Given the description of an element on the screen output the (x, y) to click on. 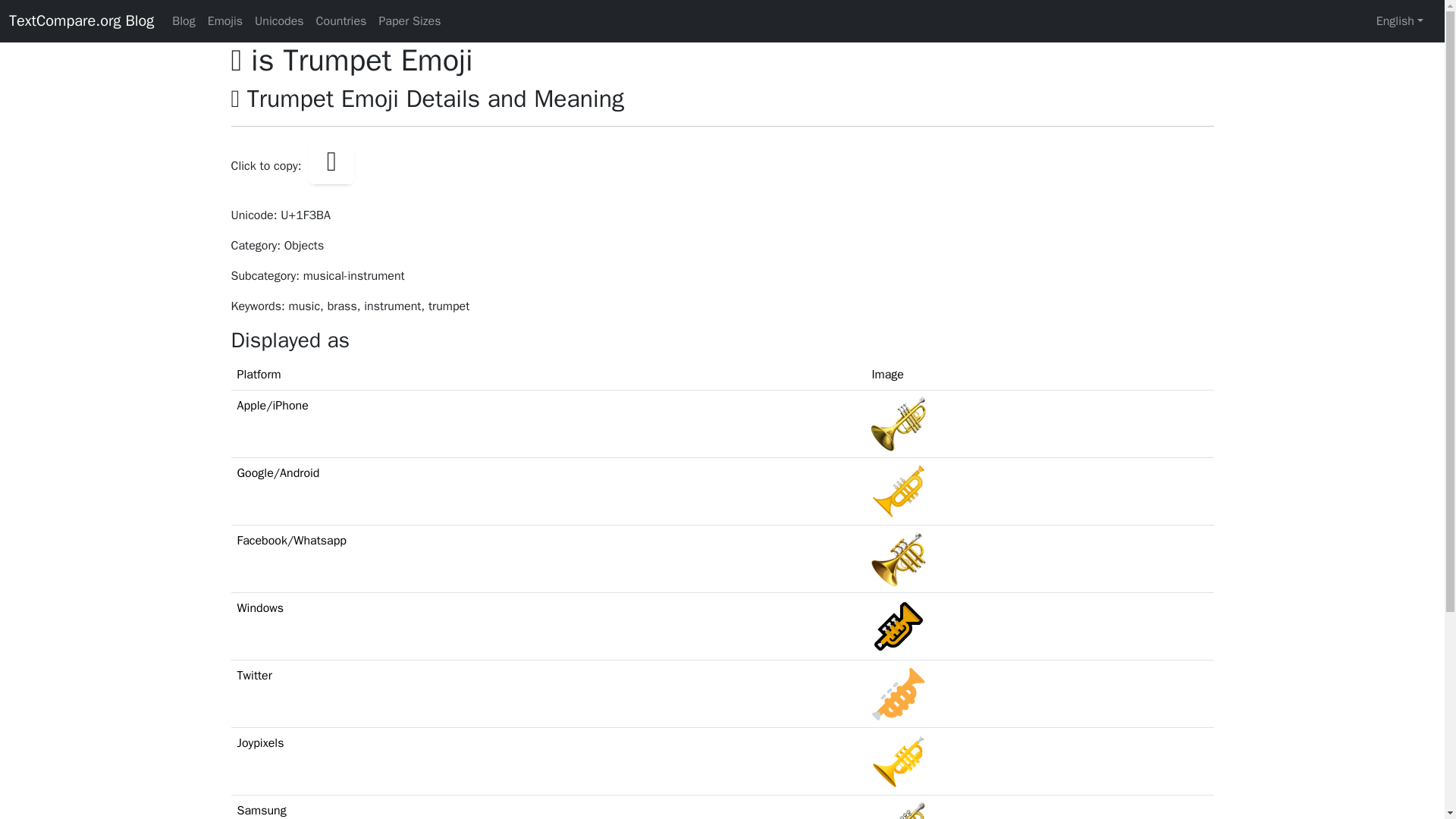
Emojis (225, 20)
TextCompare.org Blog (81, 20)
clicktocopy (330, 161)
Countries (341, 20)
Unicodes (279, 20)
Paper Sizes (409, 20)
English (1399, 20)
Blog (182, 20)
